Given the description of an element on the screen output the (x, y) to click on. 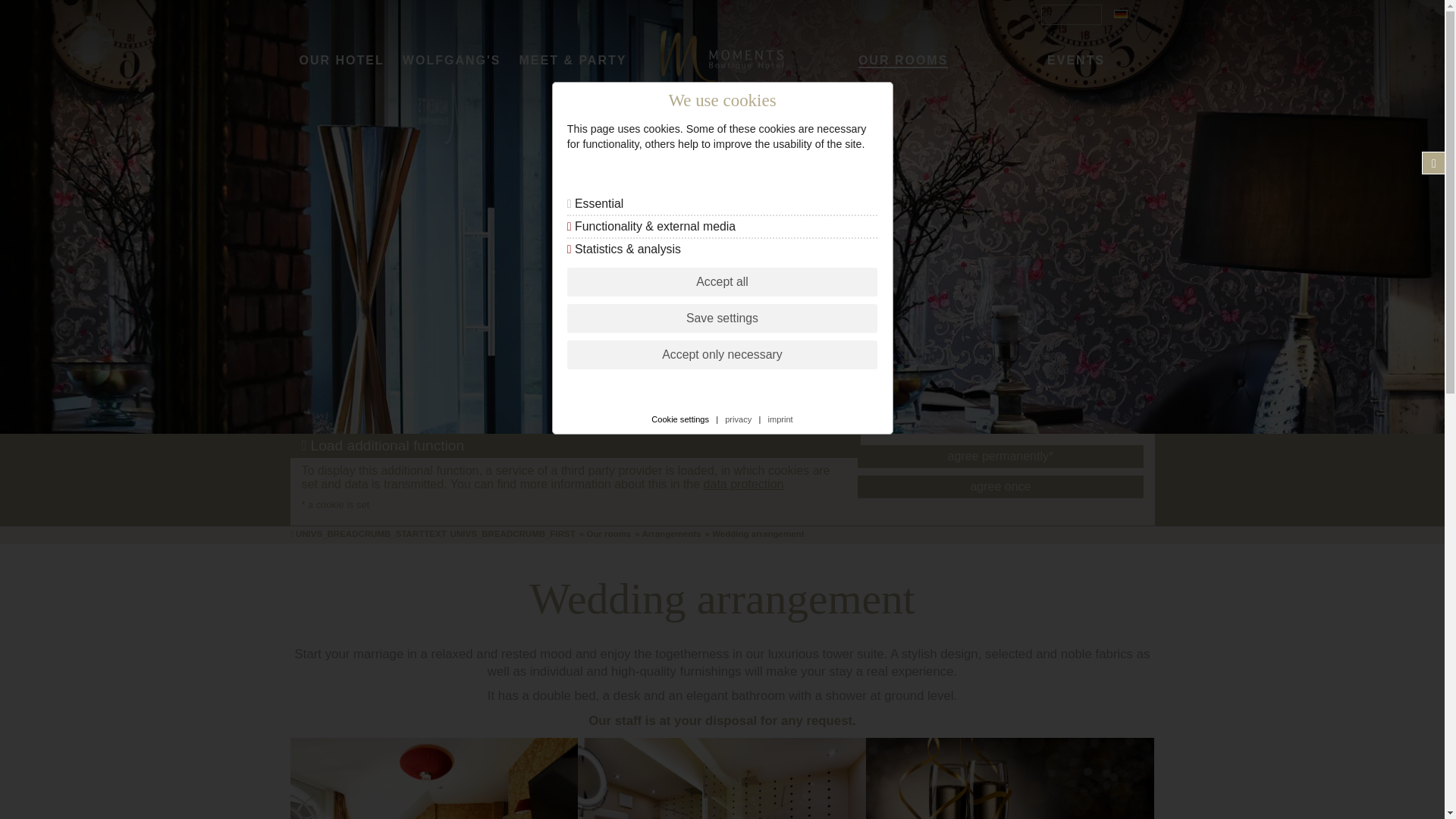
WOLFGANG'S (451, 60)
OUR HOTEL (341, 60)
1 (15, 15)
Show page 'Our hotel (341, 60)
OUR ROOMS (902, 60)
deutsch (1117, 14)
Show page 'Wolfgang's (451, 60)
